Given the description of an element on the screen output the (x, y) to click on. 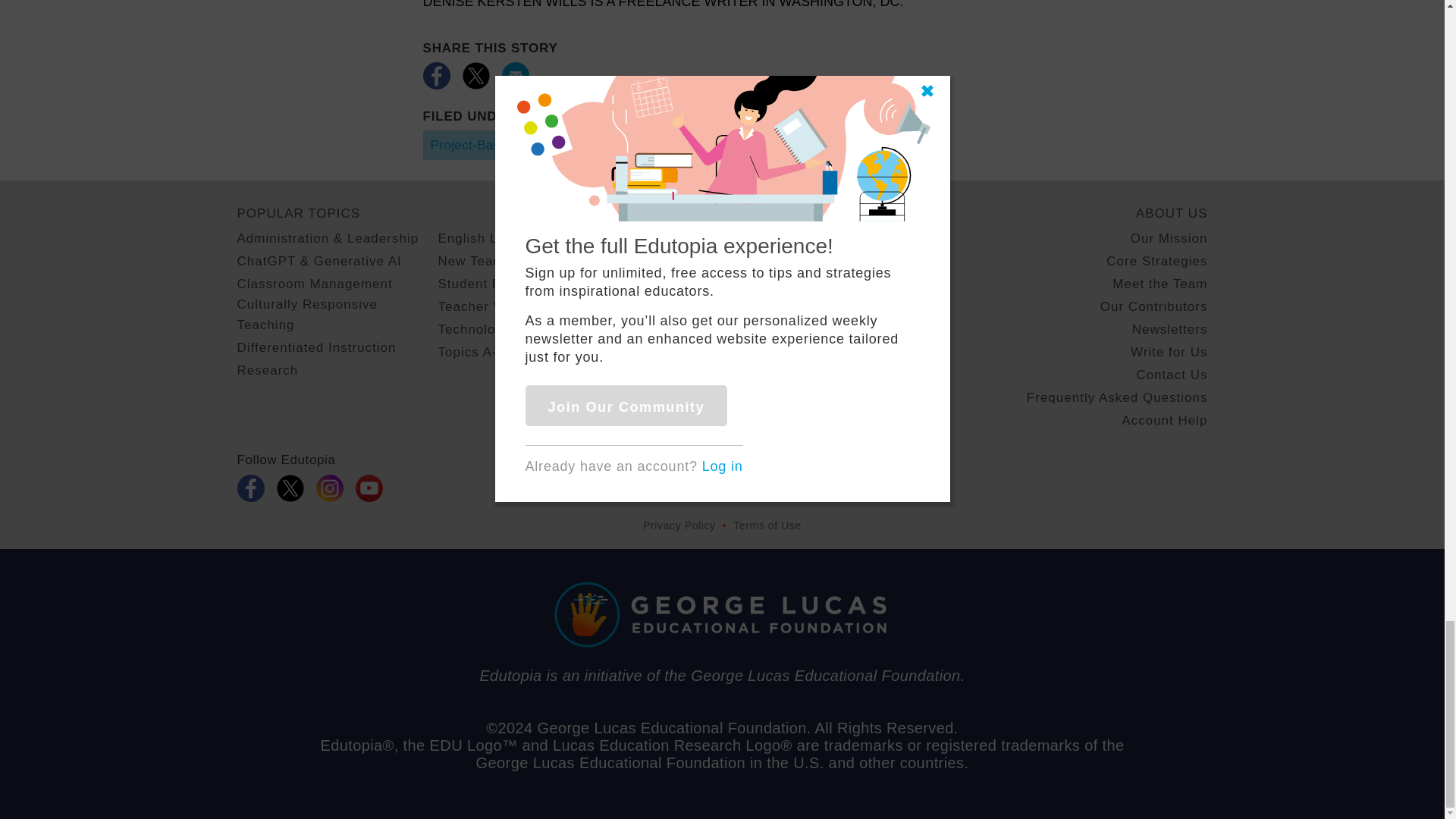
Culturally Responsive Teaching (336, 314)
6-8 Middle School (833, 306)
Teacher Wellness (494, 306)
K-2 Primary (813, 260)
Student Engagement (505, 283)
Classroom Management (313, 283)
English Language Learners (526, 238)
3-5 Upper Elementary (846, 283)
Technology Integration (511, 329)
Research (266, 370)
Pre-K (794, 238)
Differentiated Instruction (315, 347)
Topics A-Z (471, 352)
New Teachers (483, 260)
